Given the description of an element on the screen output the (x, y) to click on. 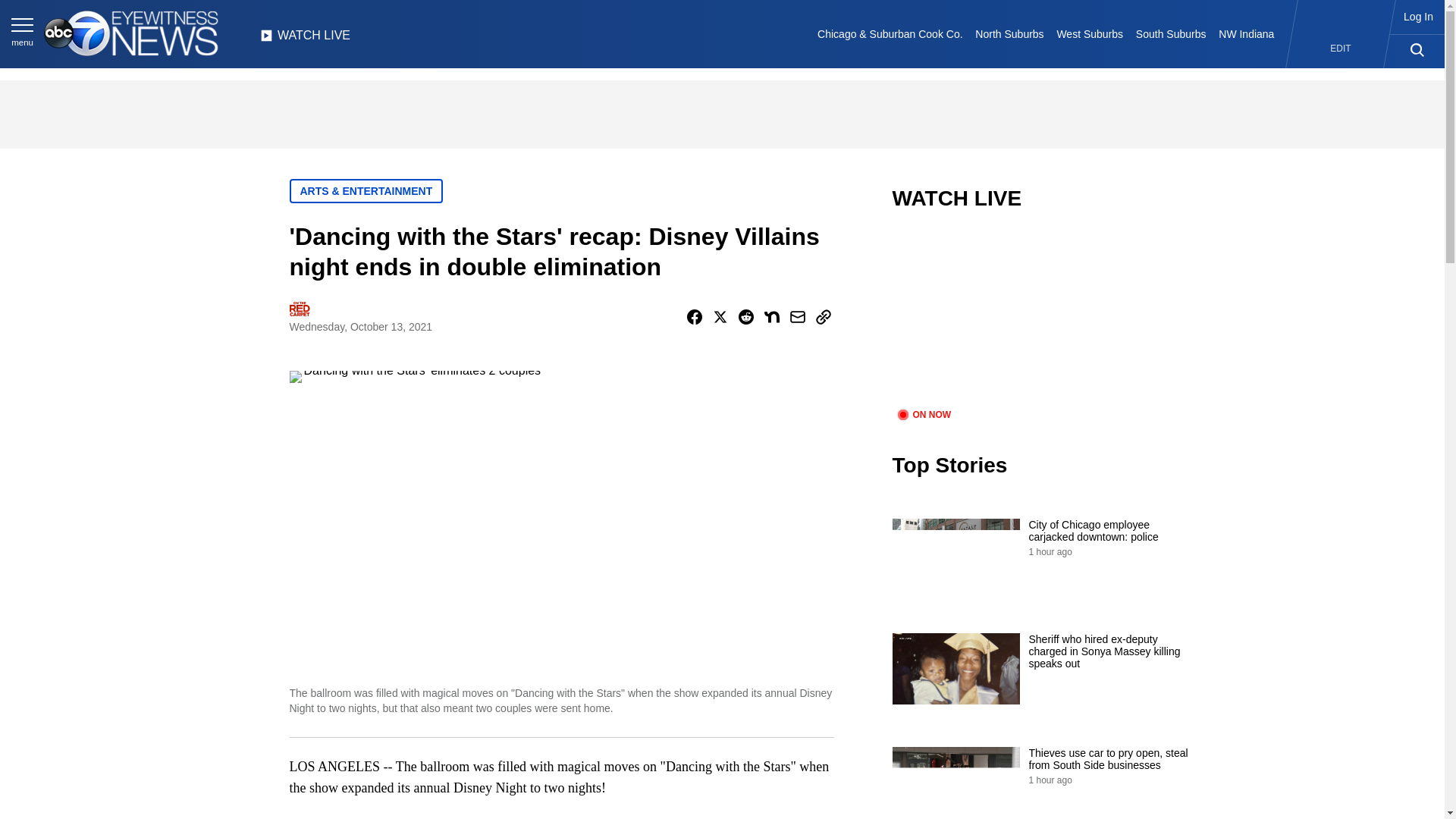
EDIT (1340, 48)
NW Indiana (1246, 33)
West Suburbs (1089, 33)
WATCH LIVE (305, 39)
video.title (1043, 318)
North Suburbs (1009, 33)
South Suburbs (1170, 33)
